Given the description of an element on the screen output the (x, y) to click on. 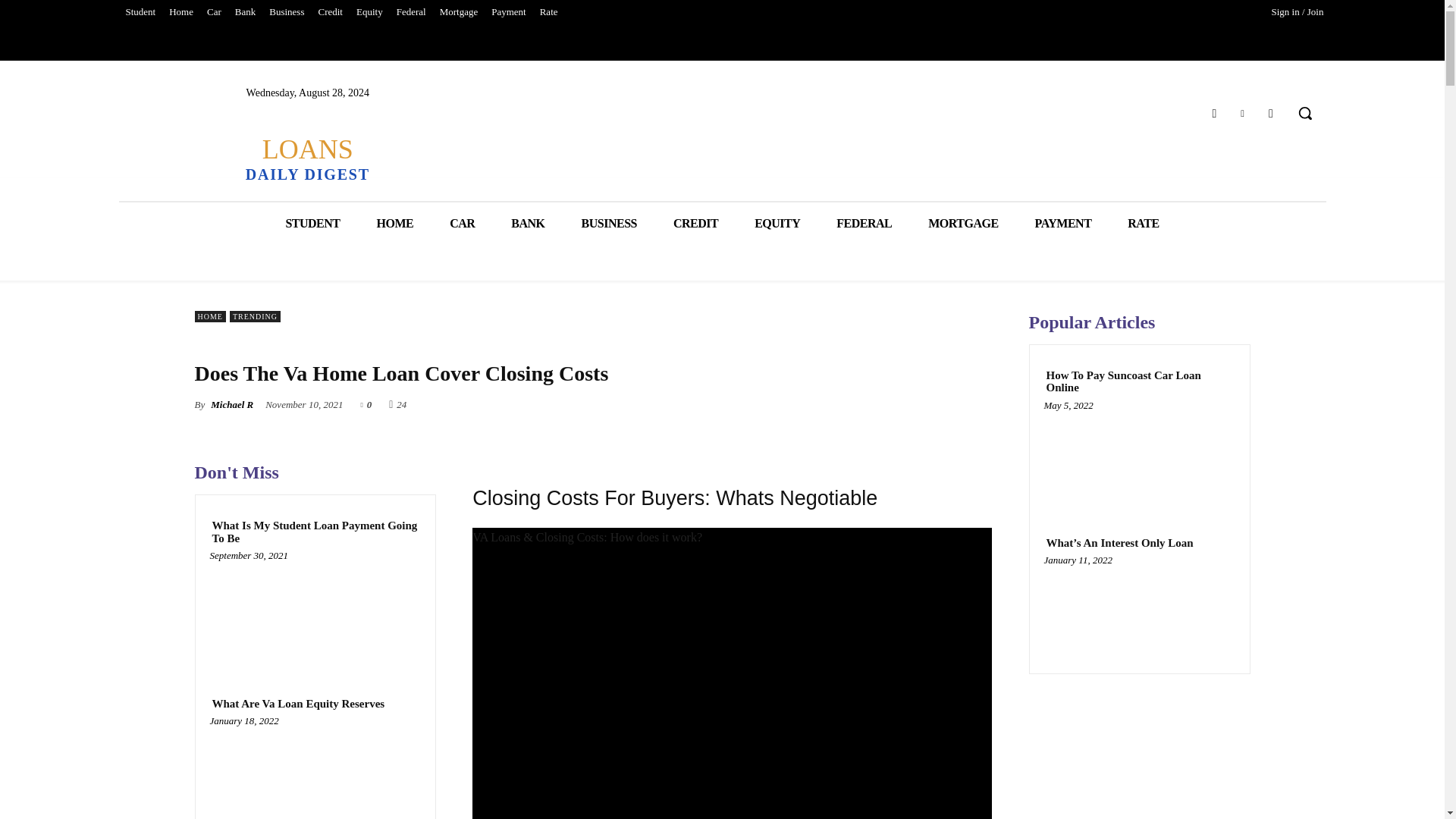
Rate (548, 12)
HOME (394, 223)
Facebook (1214, 113)
Credit (330, 12)
Mortgage (458, 12)
What Is My Student Loan Payment Going To Be (314, 611)
What Are Va Loan Equity Reserves (298, 703)
Student (139, 12)
What Are Va Loan Equity Reserves (314, 771)
CAR (461, 223)
